Given the description of an element on the screen output the (x, y) to click on. 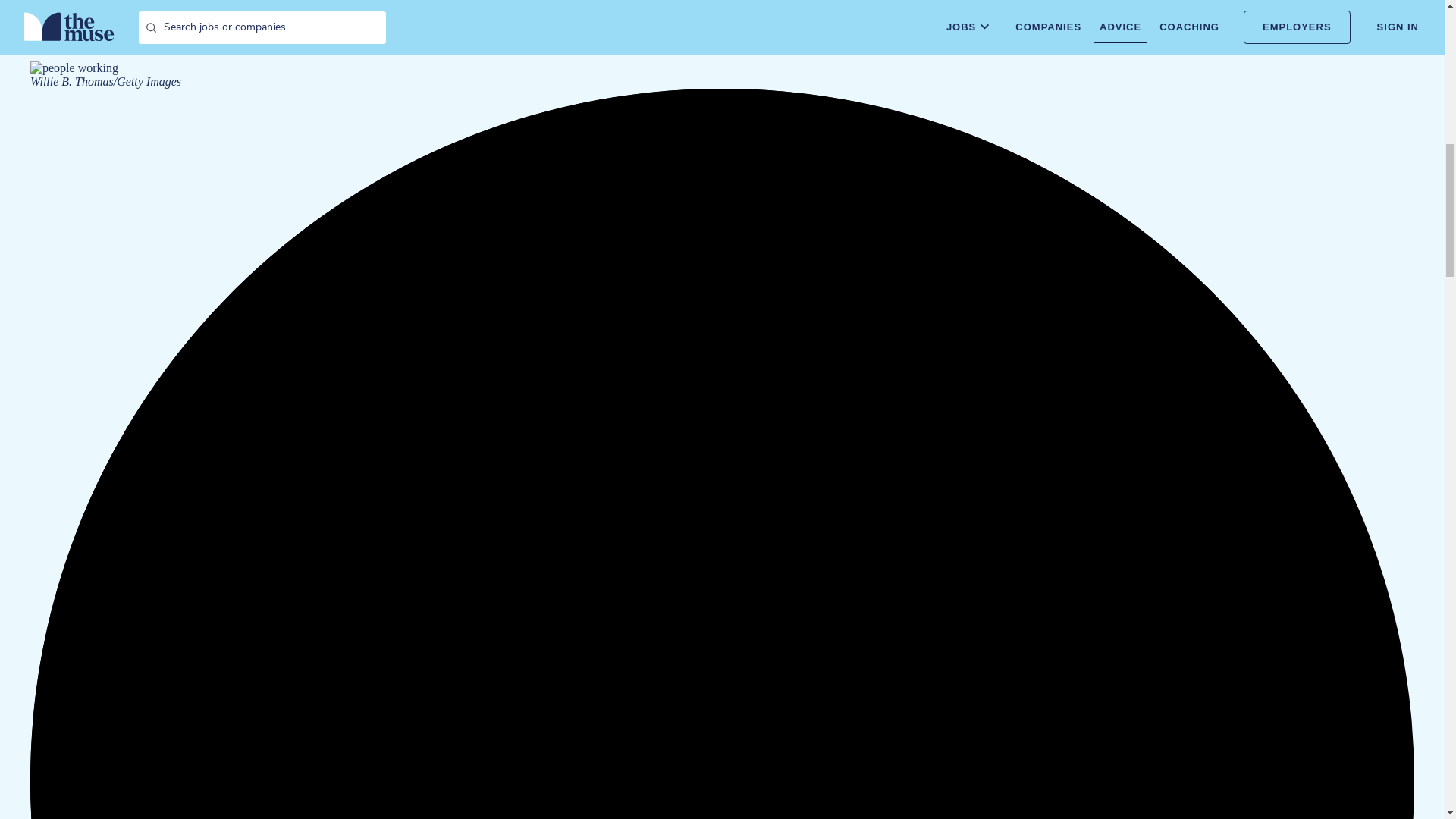
Email (42, 39)
Twitter (17, 39)
LinkedIn (30, 39)
Facebook (5, 39)
